Given the description of an element on the screen output the (x, y) to click on. 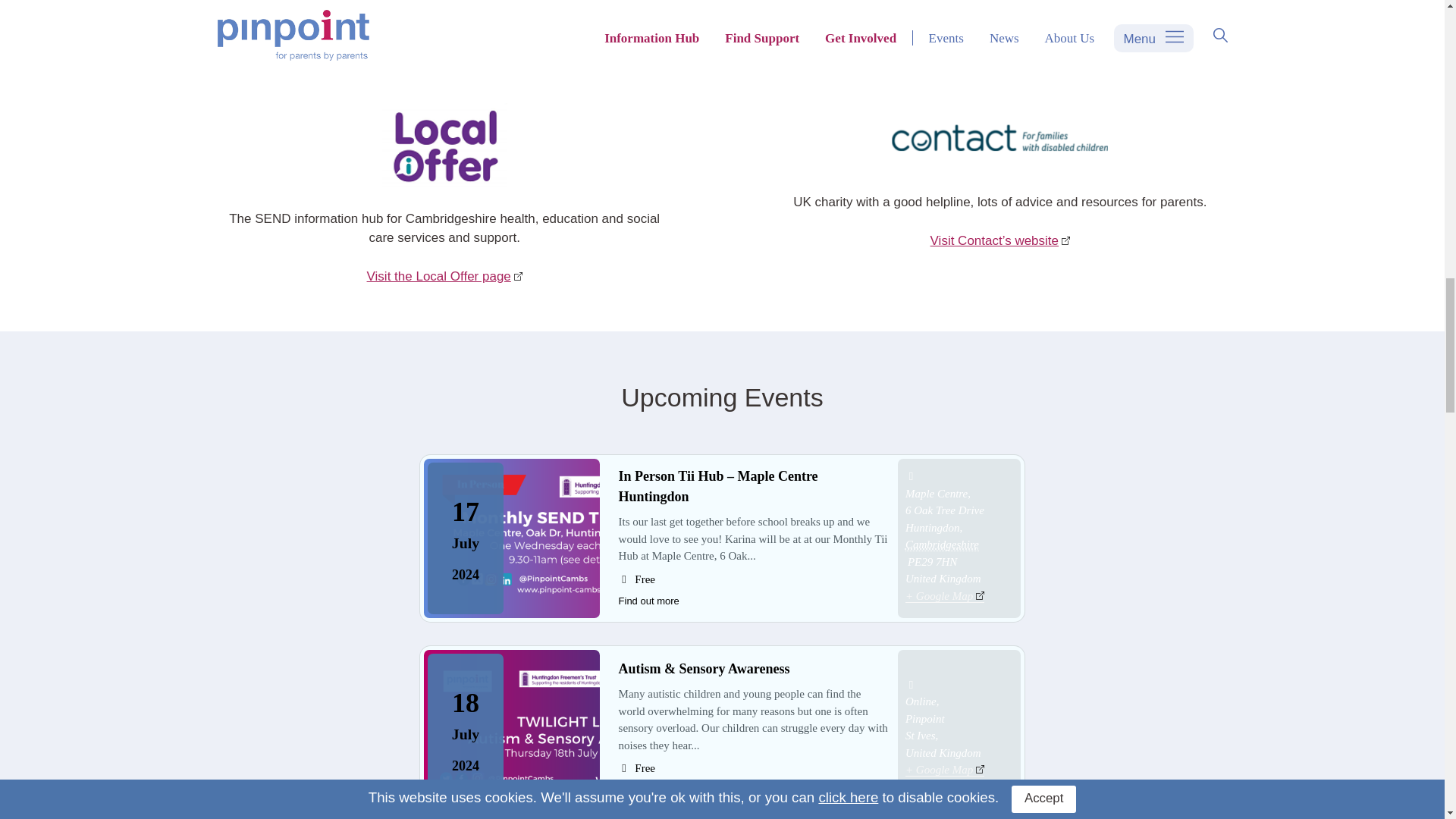
Click to view a Google Map (944, 595)
Cambridgeshire (941, 544)
Click to view a Google Map (944, 769)
